Given the description of an element on the screen output the (x, y) to click on. 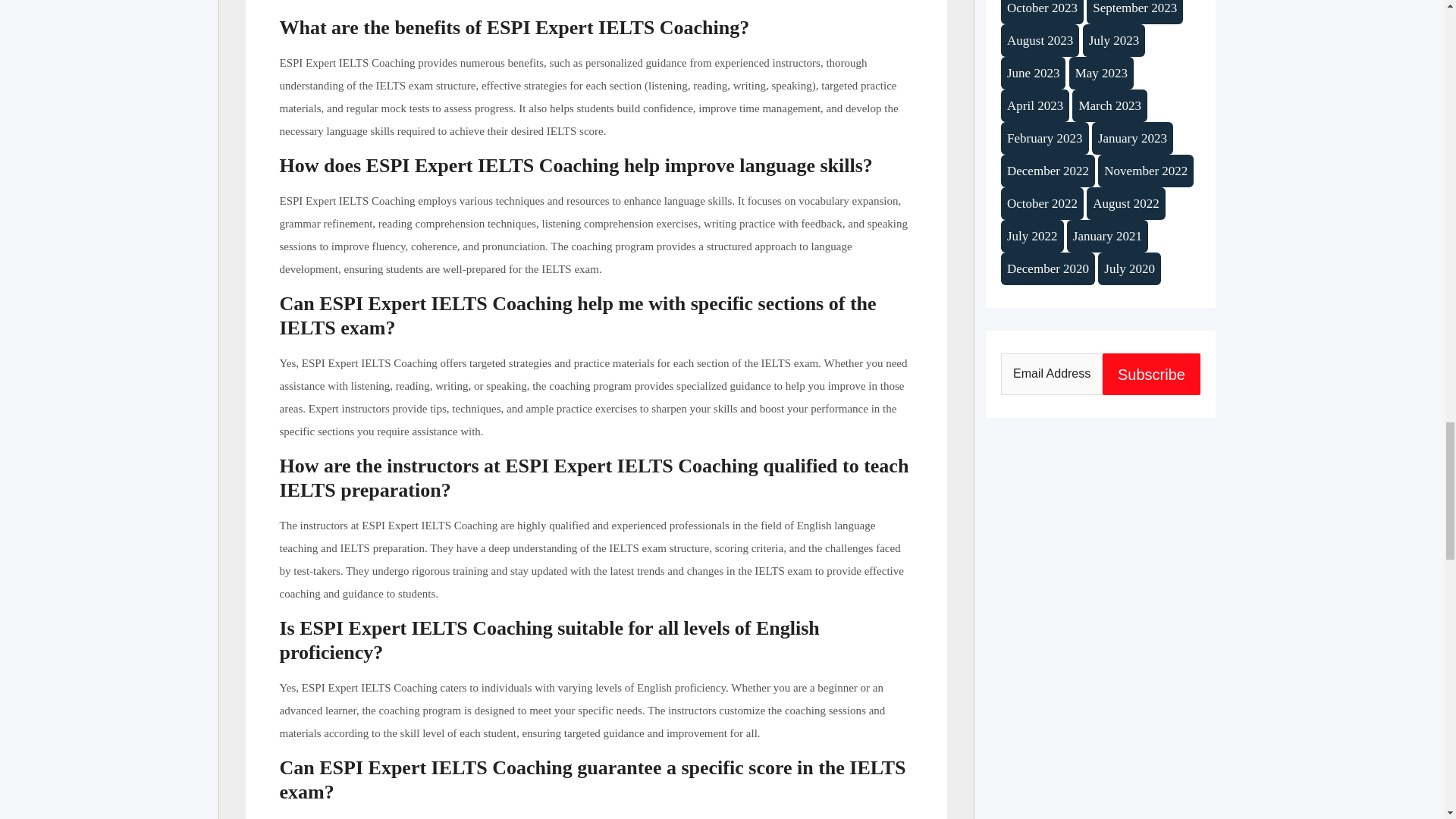
Subscribe (1150, 373)
